Given the description of an element on the screen output the (x, y) to click on. 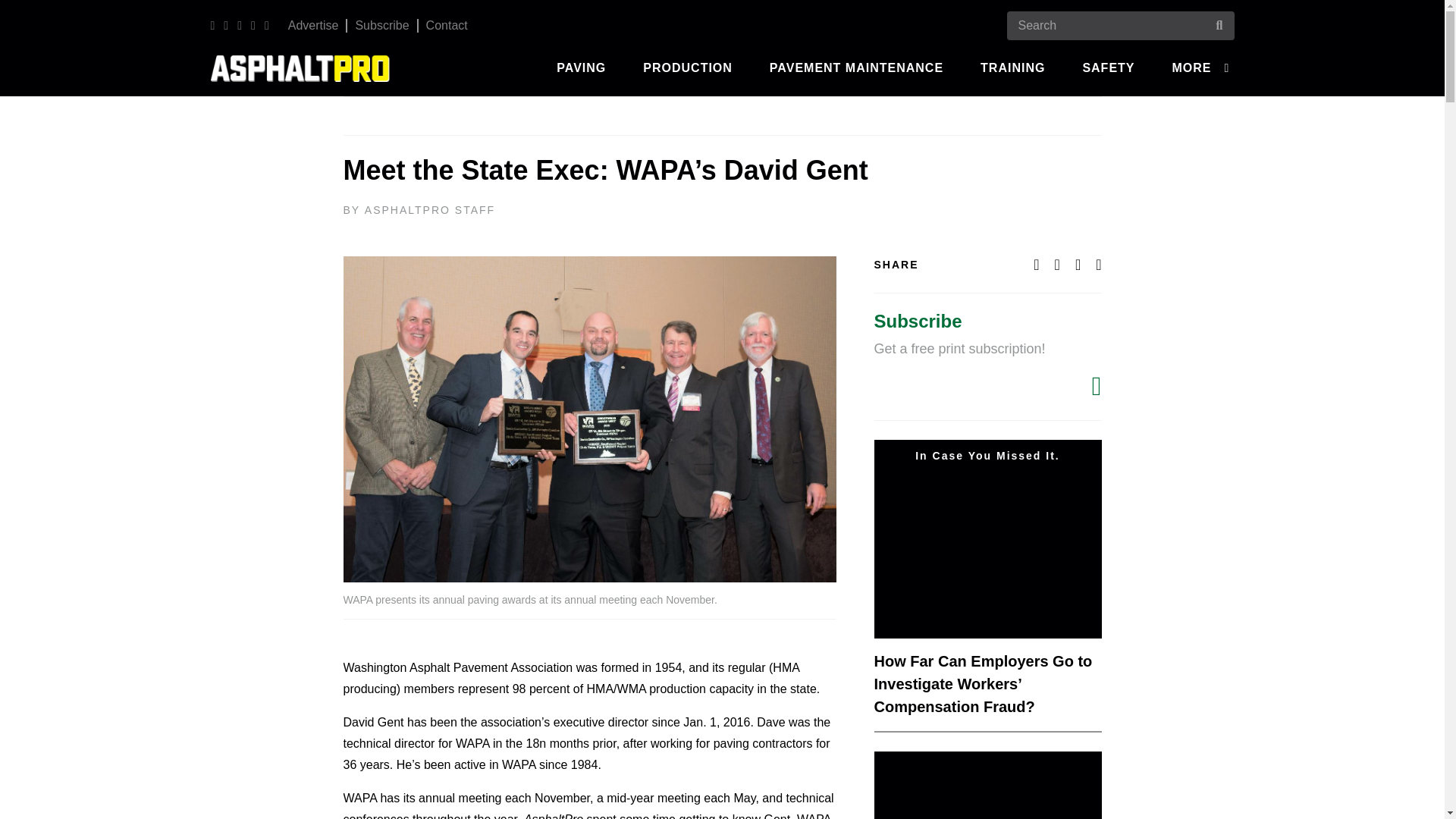
Subscribe (381, 25)
Search (25, 9)
Advertise (313, 25)
Contact (447, 25)
